Given the description of an element on the screen output the (x, y) to click on. 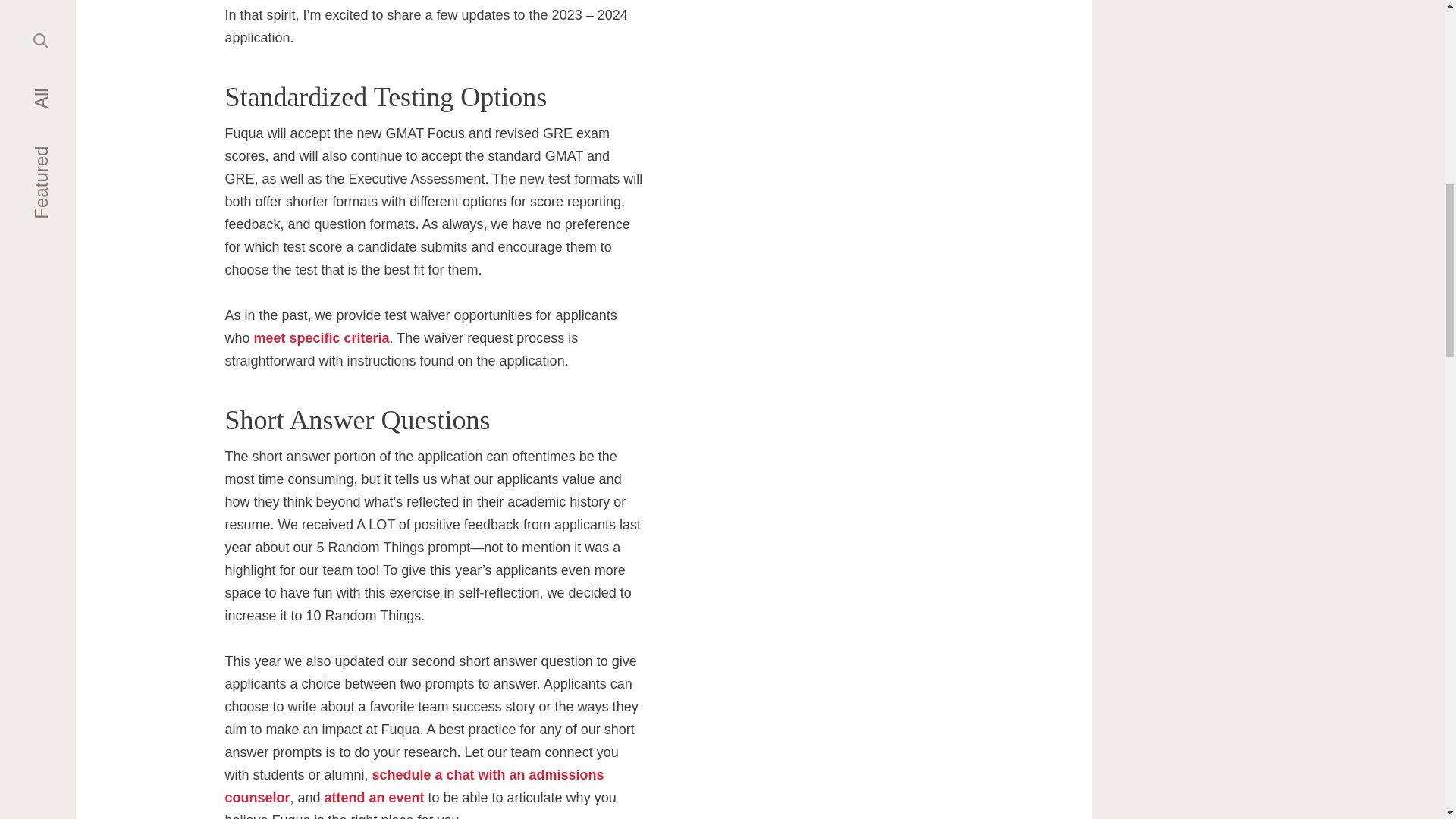
schedule a chat with an admissions counselor (414, 786)
attend an event (373, 797)
meet specific criteria (320, 337)
